Given the description of an element on the screen output the (x, y) to click on. 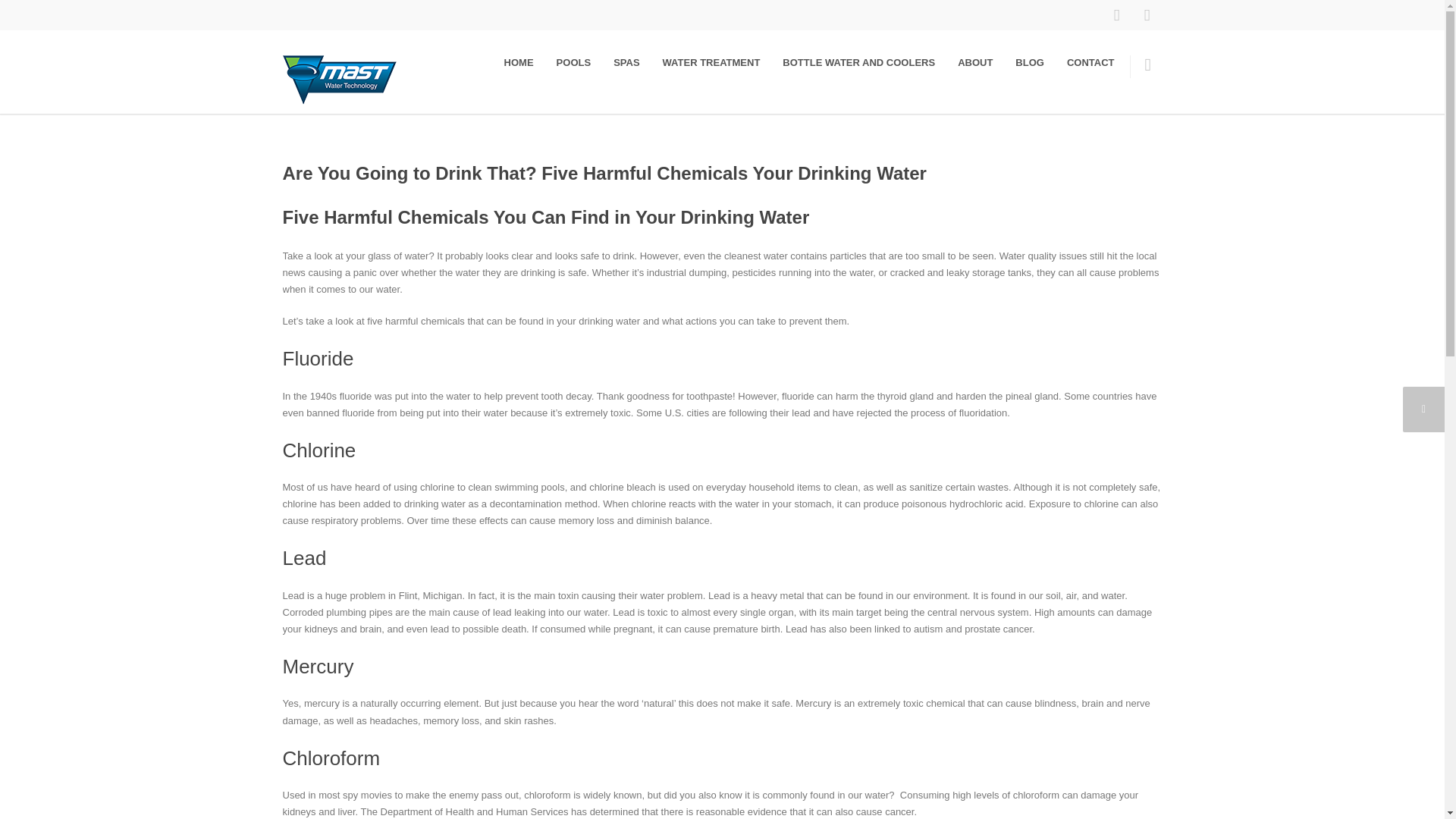
BLOG (1029, 62)
Facebook (1115, 15)
SPAS (626, 62)
CONTACT (1090, 62)
WATER TREATMENT (710, 62)
Twitter (1146, 15)
HOME (518, 62)
BOTTLE WATER AND COOLERS (858, 62)
POOLS (573, 62)
